Given the description of an element on the screen output the (x, y) to click on. 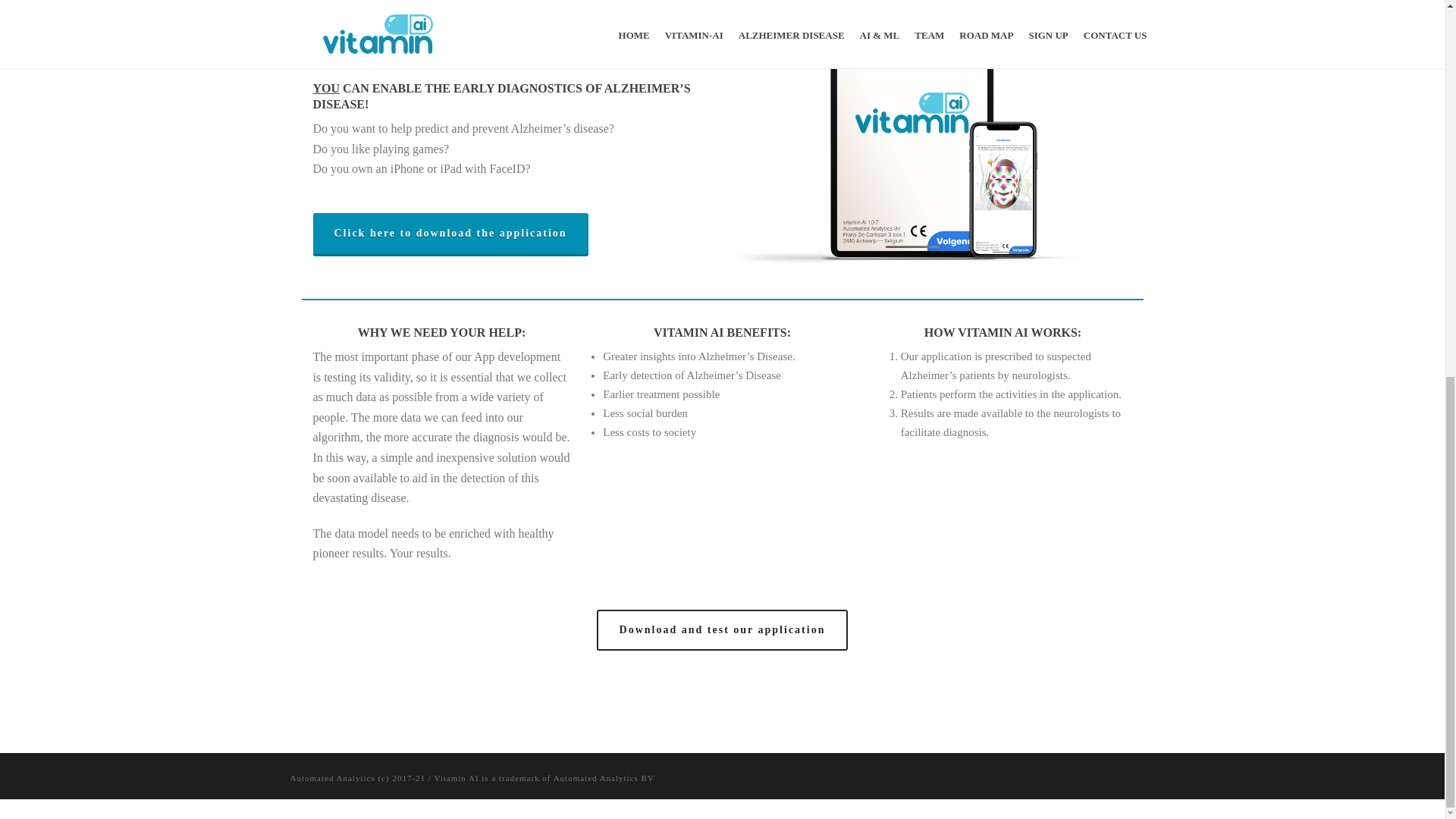
Download and test our application (722, 629)
Click here to download the application (450, 232)
Click here to download the application (450, 232)
Download and test our application (722, 629)
